Given the description of an element on the screen output the (x, y) to click on. 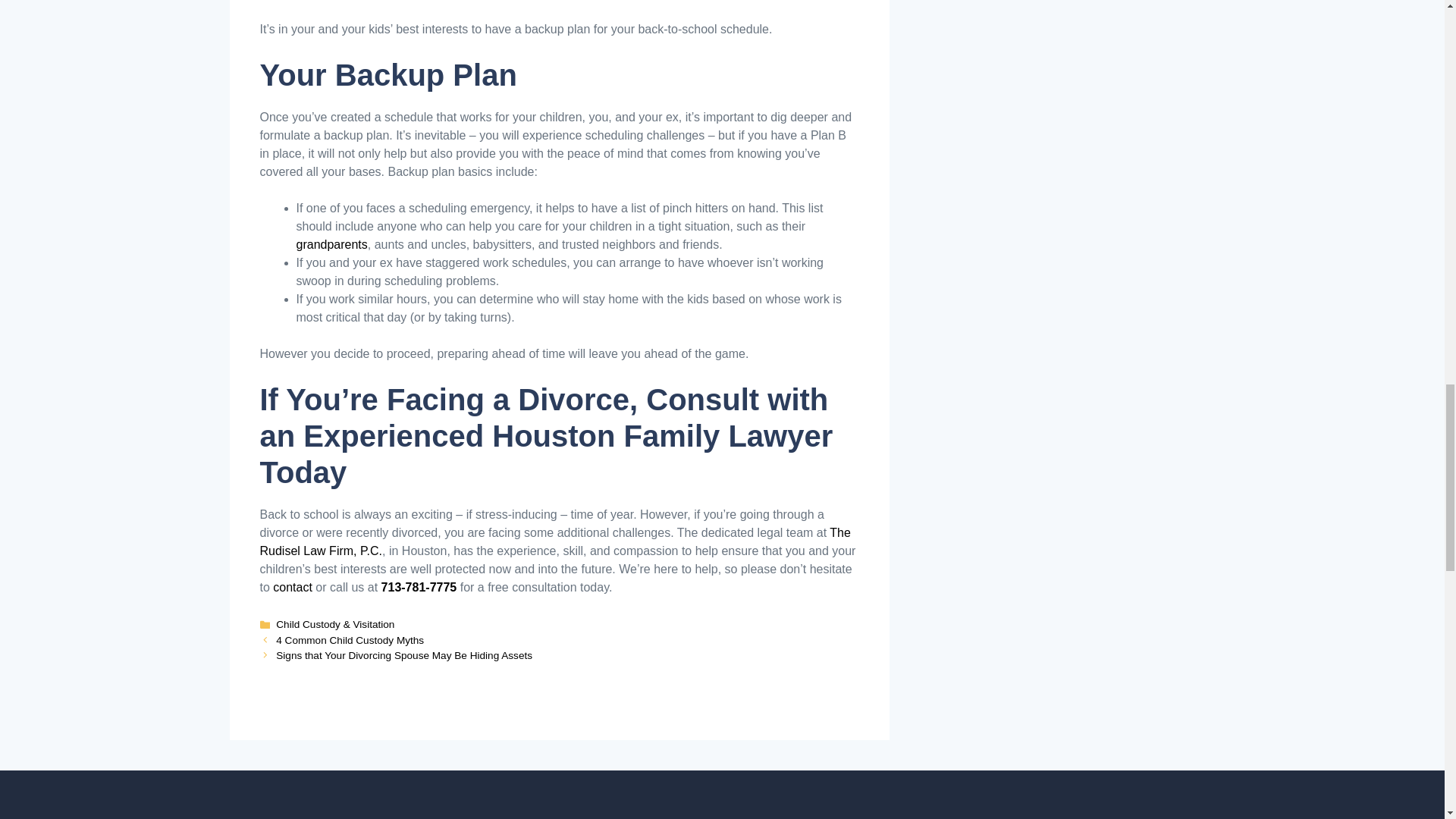
contact (293, 586)
Signs that Your Divorcing Spouse May Be Hiding Assets (404, 655)
grandparents (330, 244)
The Rudisel Law Firm, P.C. (554, 541)
4 Common Child Custody Myths (349, 640)
713-781-7775 (419, 586)
